Given the description of an element on the screen output the (x, y) to click on. 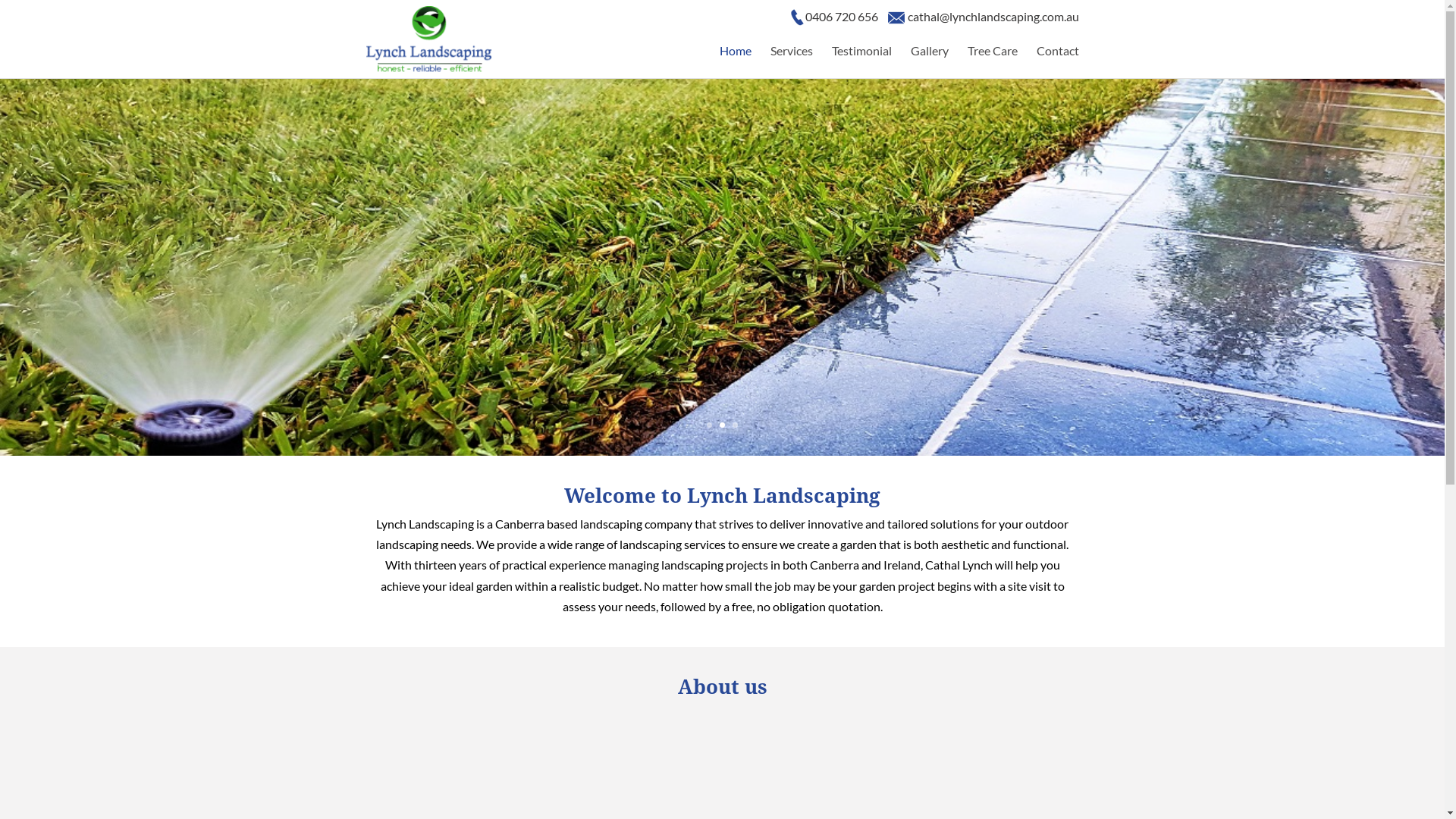
Testimonial Element type: text (861, 55)
Gallery Element type: text (928, 55)
Home Element type: text (734, 55)
3 Element type: text (734, 424)
1 Element type: text (709, 424)
Tree Care Element type: text (992, 55)
Contact Element type: text (1056, 55)
2 Element type: text (721, 424)
cathal@lynchlandscaping.com.au Element type: text (992, 16)
0406 720 656 Element type: text (841, 16)
Services Element type: text (791, 55)
